Given the description of an element on the screen output the (x, y) to click on. 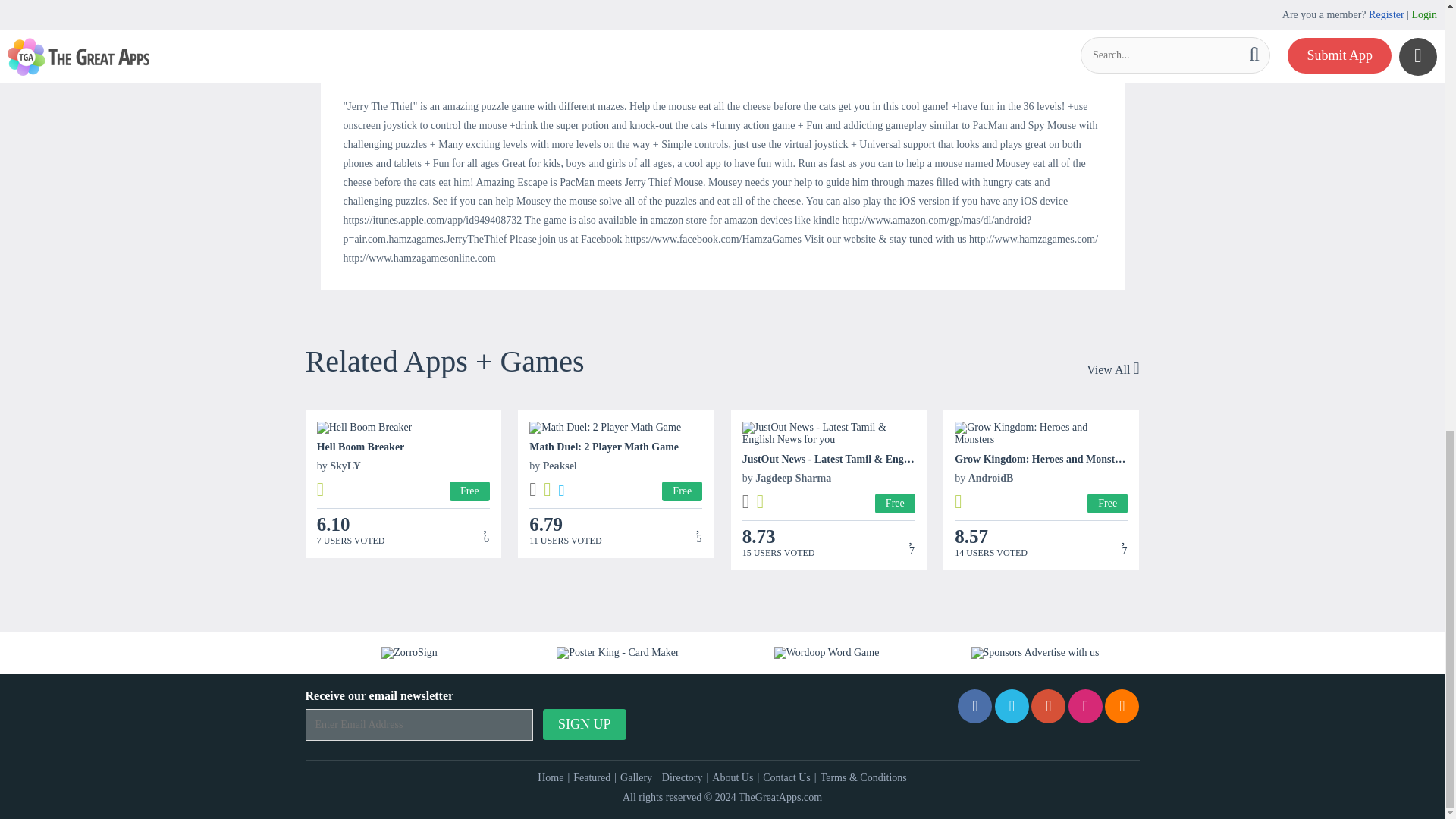
Twitter (1011, 706)
Rss (1121, 706)
Poster King - Card Maker (617, 653)
Facebook (974, 706)
Wordoop Word Game (826, 653)
Sponsors Advertise with us (1035, 653)
Sign up (584, 724)
Instagram (1085, 706)
Pinterest (1047, 706)
ZorroSign (409, 653)
